Given the description of an element on the screen output the (x, y) to click on. 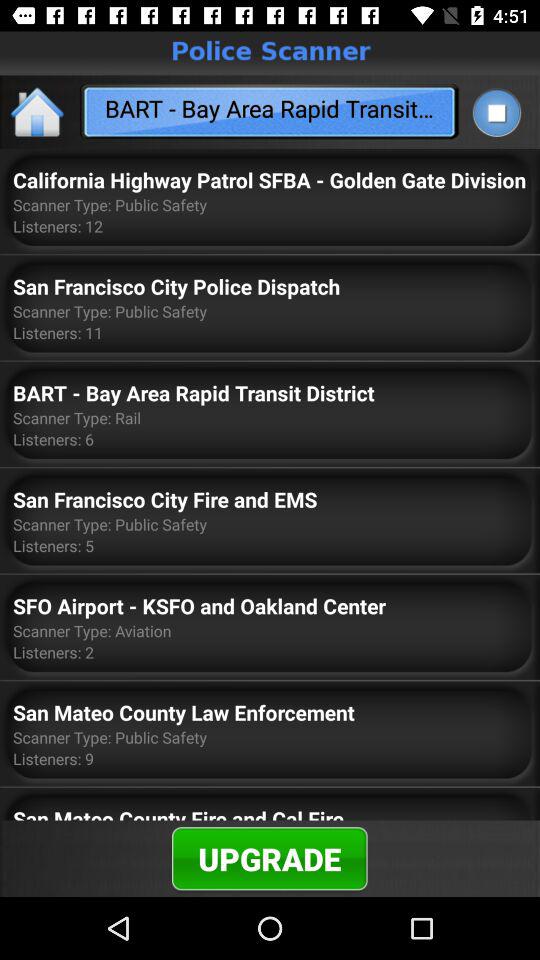
jump to upgrade icon (269, 858)
